Given the description of an element on the screen output the (x, y) to click on. 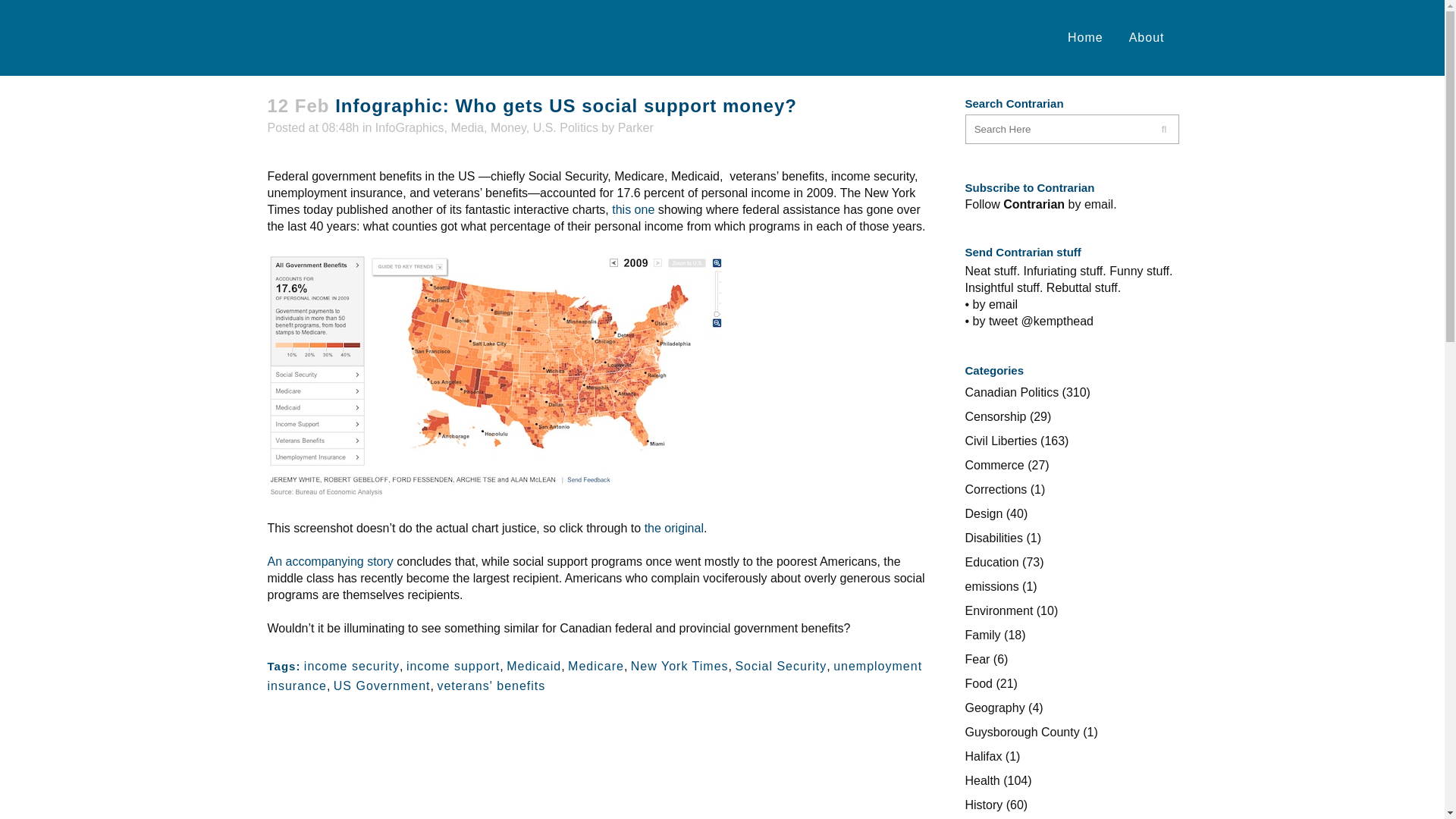
US Government (381, 685)
U.S. Politics (565, 127)
Environment (997, 610)
this one (632, 209)
veterans' benefits (490, 685)
New York Times (679, 666)
Media (466, 127)
the original (674, 527)
Civil Liberties (999, 440)
Commerce (993, 464)
income security (351, 666)
NYT US Income Support chart-600 (494, 374)
Medicaid (533, 666)
Social Security (781, 666)
by email (1090, 204)
